Given the description of an element on the screen output the (x, y) to click on. 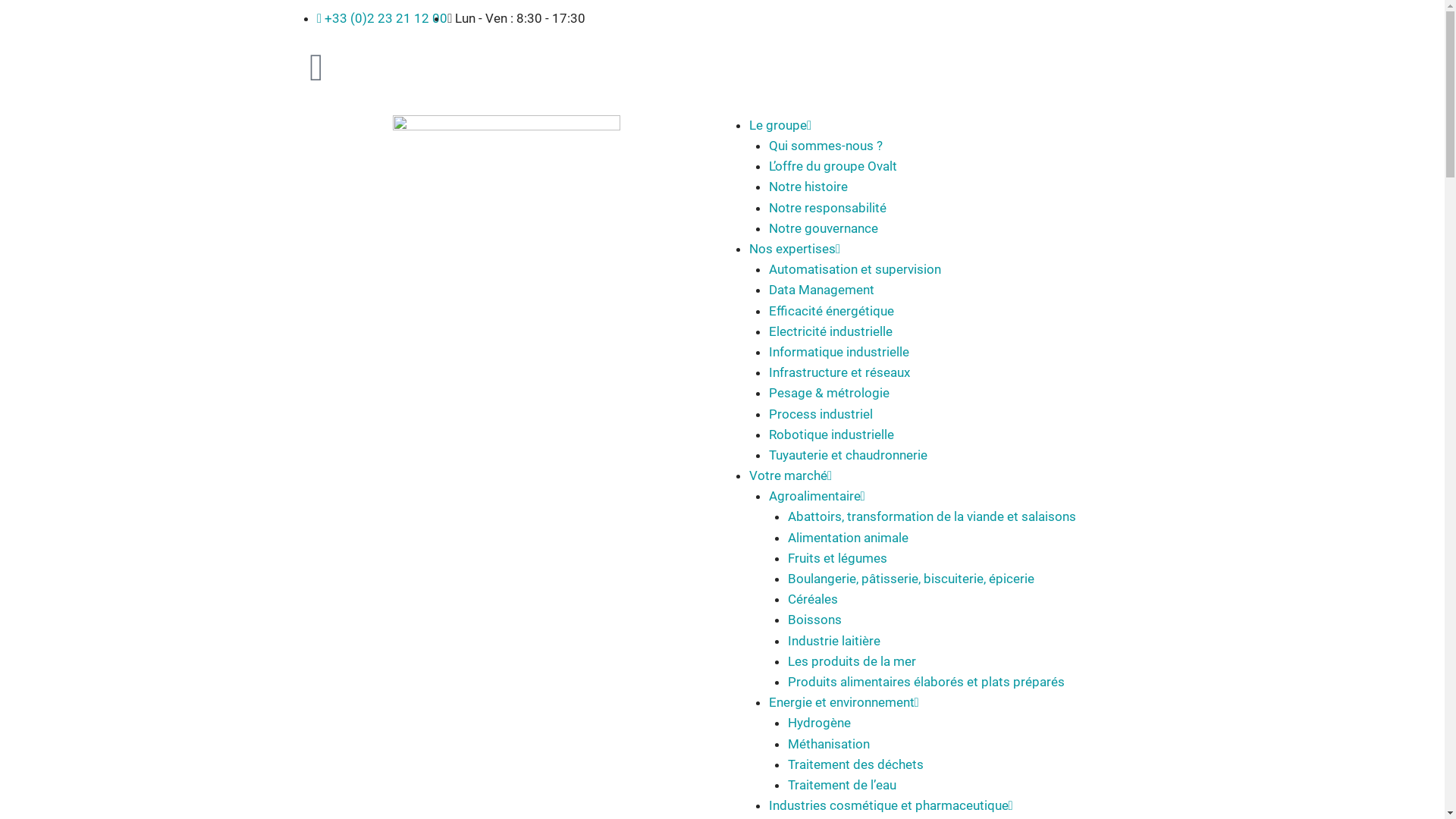
+33 (0)2 23 21 12 00 Element type: text (381, 17)
Informatique industrielle Element type: text (838, 351)
Tuyauterie et chaudronnerie Element type: text (847, 454)
Boissons Element type: text (814, 619)
Process industriel Element type: text (820, 413)
Robotique industrielle Element type: text (831, 434)
Data Management Element type: text (821, 289)
Abattoirs, transformation de la viande et salaisons Element type: text (931, 516)
Alimentation animale Element type: text (847, 537)
Agroalimentaire Element type: text (814, 495)
Energie et environnement Element type: text (841, 701)
Automatisation et supervision Element type: text (854, 268)
Nos expertises Element type: text (792, 248)
Le groupe Element type: text (777, 124)
Qui sommes-nous ? Element type: text (825, 145)
Les produits de la mer Element type: text (851, 660)
Notre gouvernance Element type: text (823, 227)
Notre histoire Element type: text (807, 186)
